Given the description of an element on the screen output the (x, y) to click on. 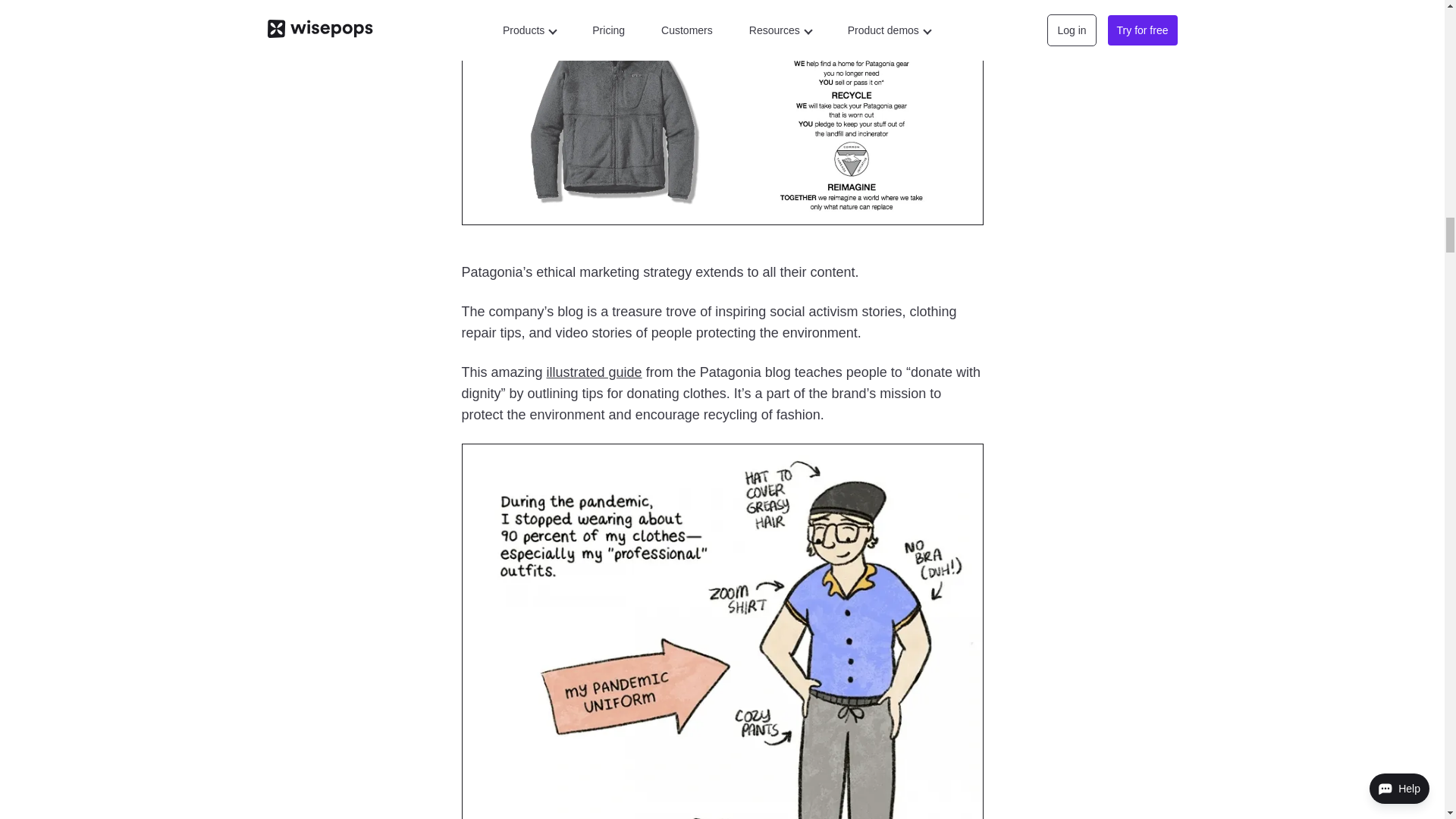
illustrated guide (594, 372)
